Given the description of an element on the screen output the (x, y) to click on. 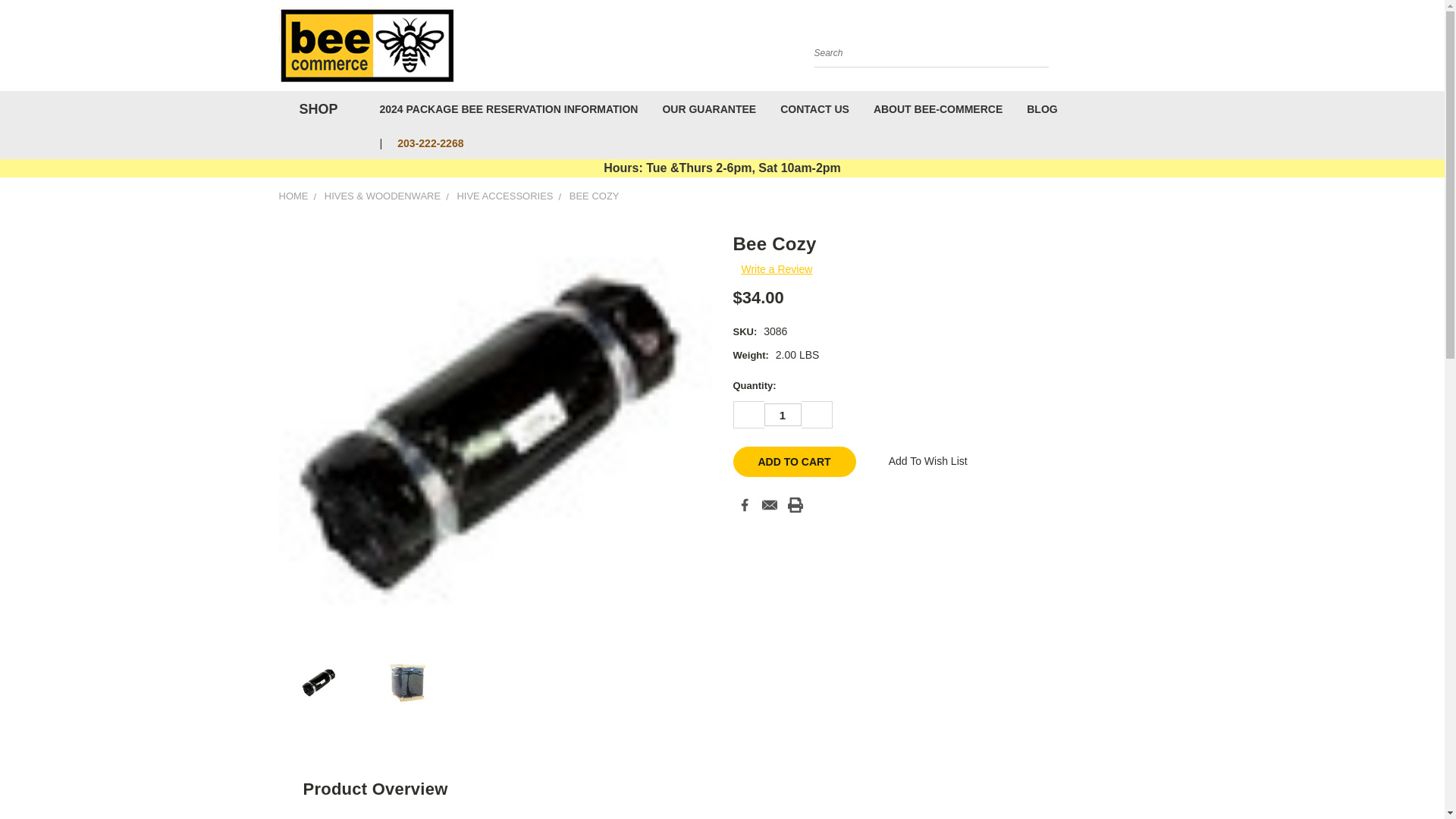
1 (783, 414)
SHOP (314, 109)
Print (795, 504)
Add to Cart (794, 461)
2024 PACKAGE BEE RESERVATION INFORMATION (507, 107)
Bee-Commerce (366, 45)
Facebook (744, 504)
Email (769, 504)
OUR GUARANTEE (708, 107)
submit (1033, 51)
